Given the description of an element on the screen output the (x, y) to click on. 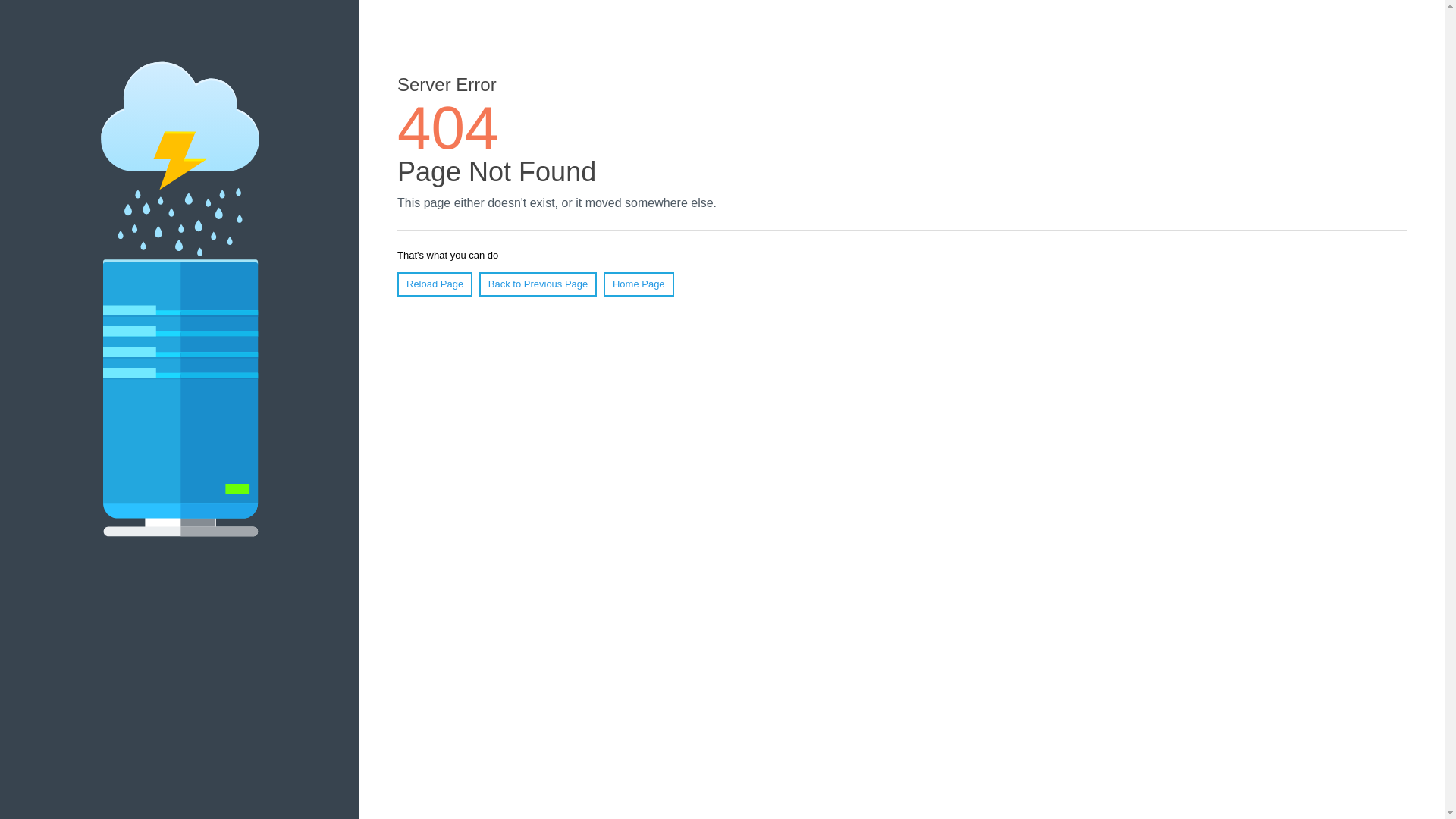
Home Page (639, 283)
Reload Page (434, 283)
Back to Previous Page (537, 283)
